Given the description of an element on the screen output the (x, y) to click on. 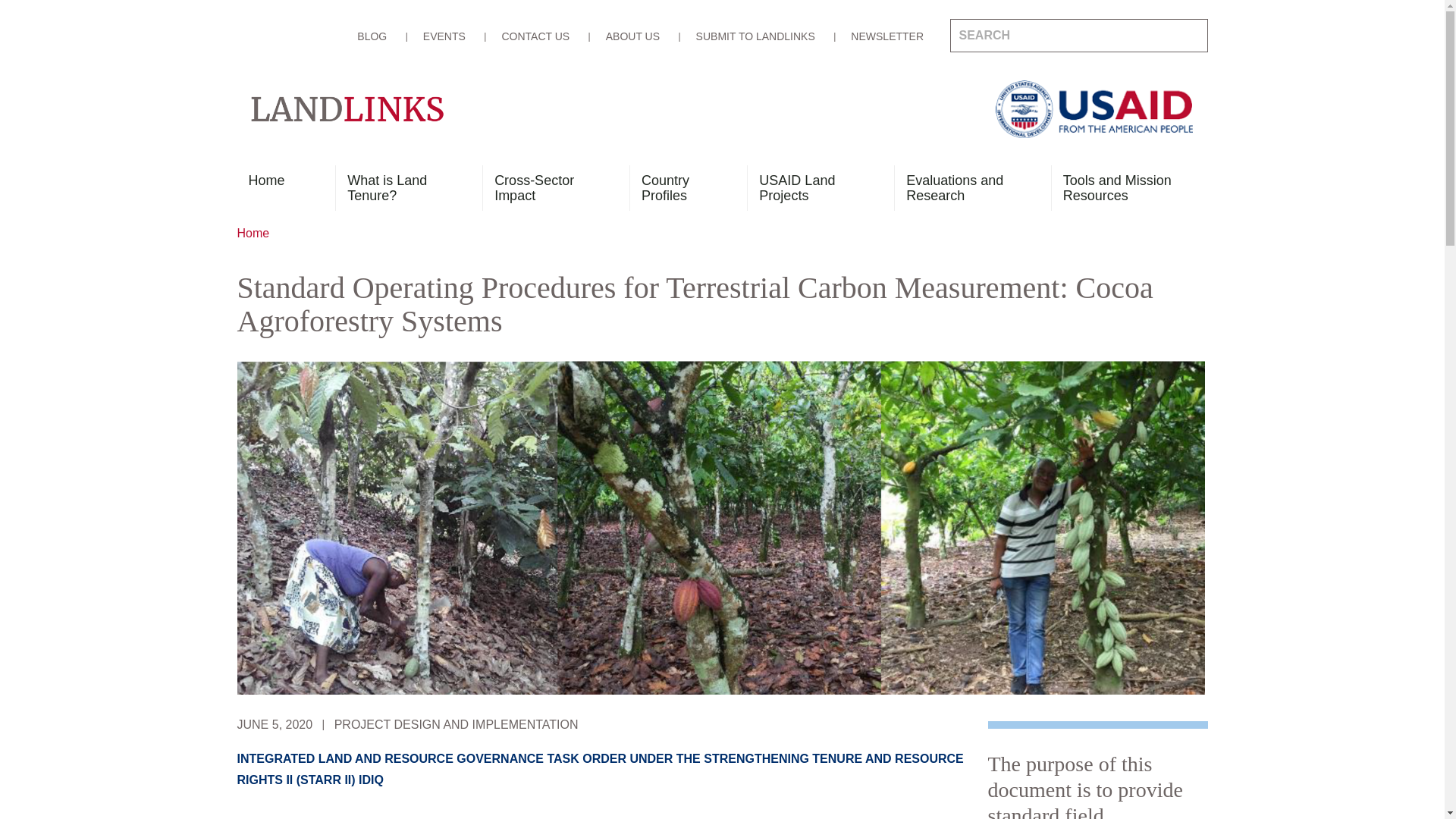
Evaluations and Research (966, 187)
USAID Land Projects (814, 187)
Search for: (1078, 35)
Cross-Sector Impact (549, 187)
Home (279, 187)
What is Land Tenure? (402, 187)
NEWSLETTER (886, 36)
ABOUT US (632, 36)
Tools and Mission Resources (1123, 187)
SUBMIT TO LANDLINKS (755, 36)
CONTACT US (534, 36)
BLOG (371, 36)
EVENTS (444, 36)
Country Profiles (682, 187)
Home (252, 232)
